Given the description of an element on the screen output the (x, y) to click on. 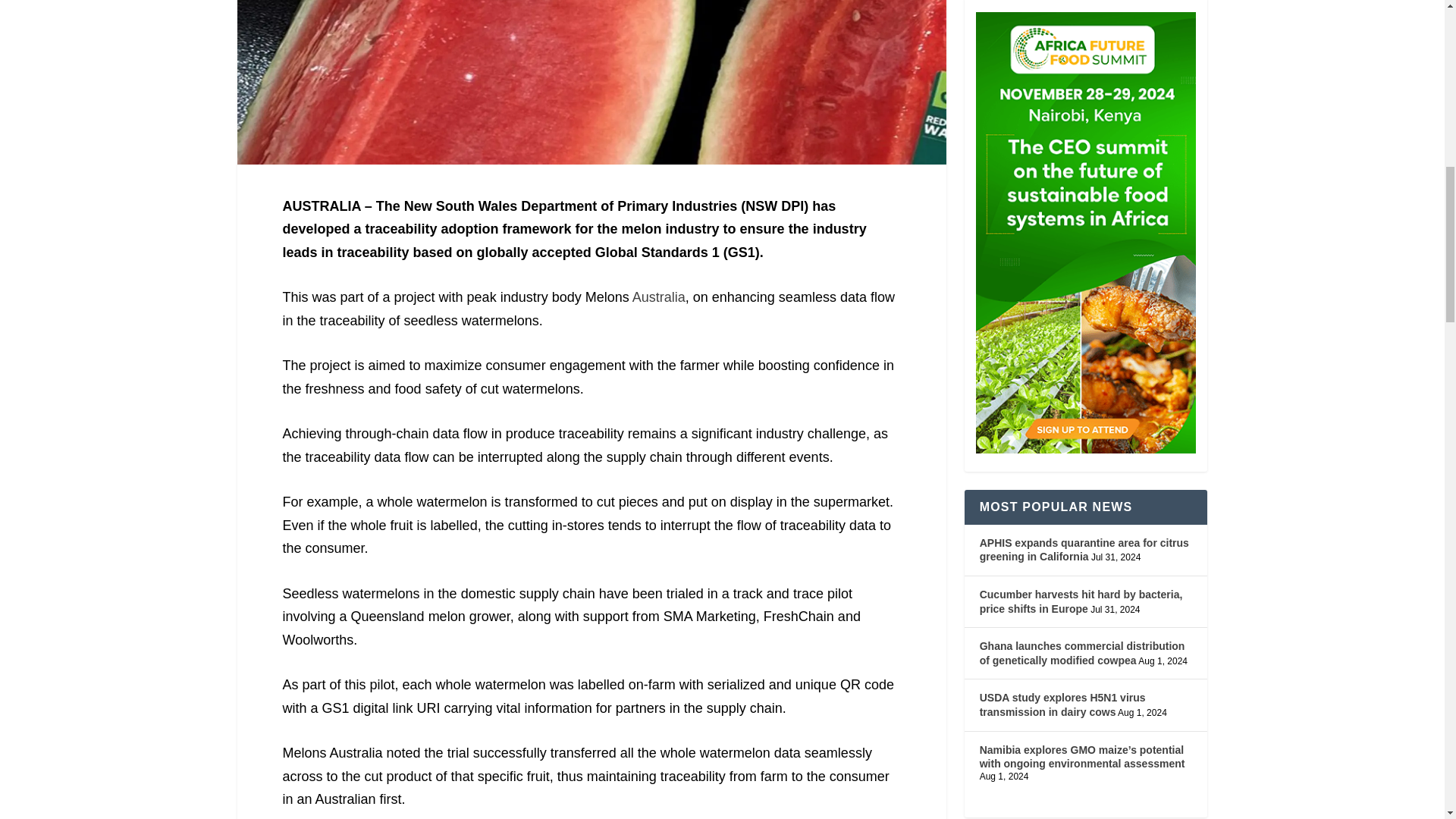
Australia (658, 296)
